Given the description of an element on the screen output the (x, y) to click on. 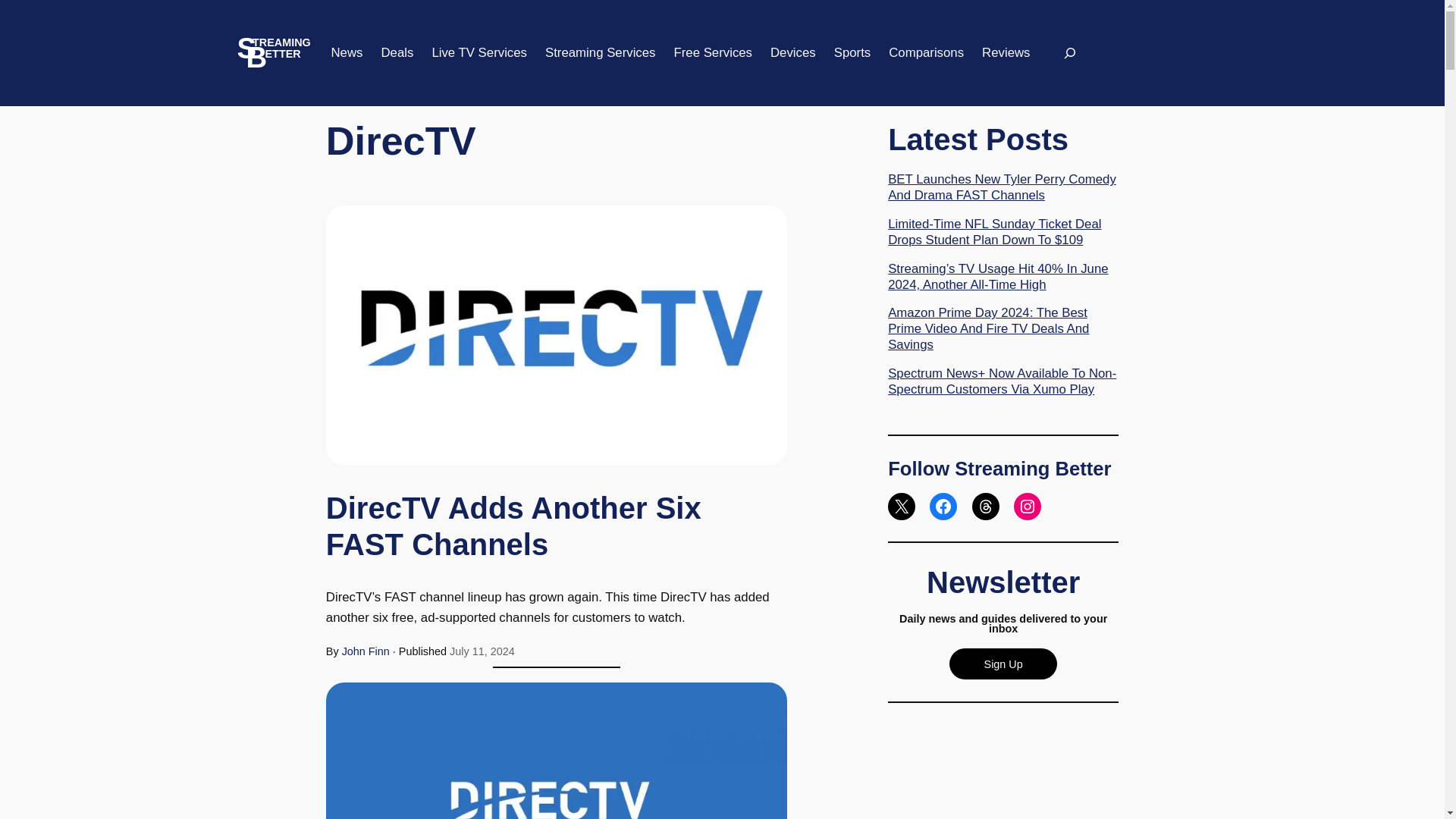
Free Services (712, 53)
John Finn (366, 651)
News (346, 53)
Live TV Services (478, 53)
Devices (792, 53)
DirecTV Adds Another Six FAST Channels (556, 525)
Sports (852, 53)
Reviews (1005, 53)
Deals (396, 53)
Streaming Services (600, 53)
Comparisons (925, 53)
